Given the description of an element on the screen output the (x, y) to click on. 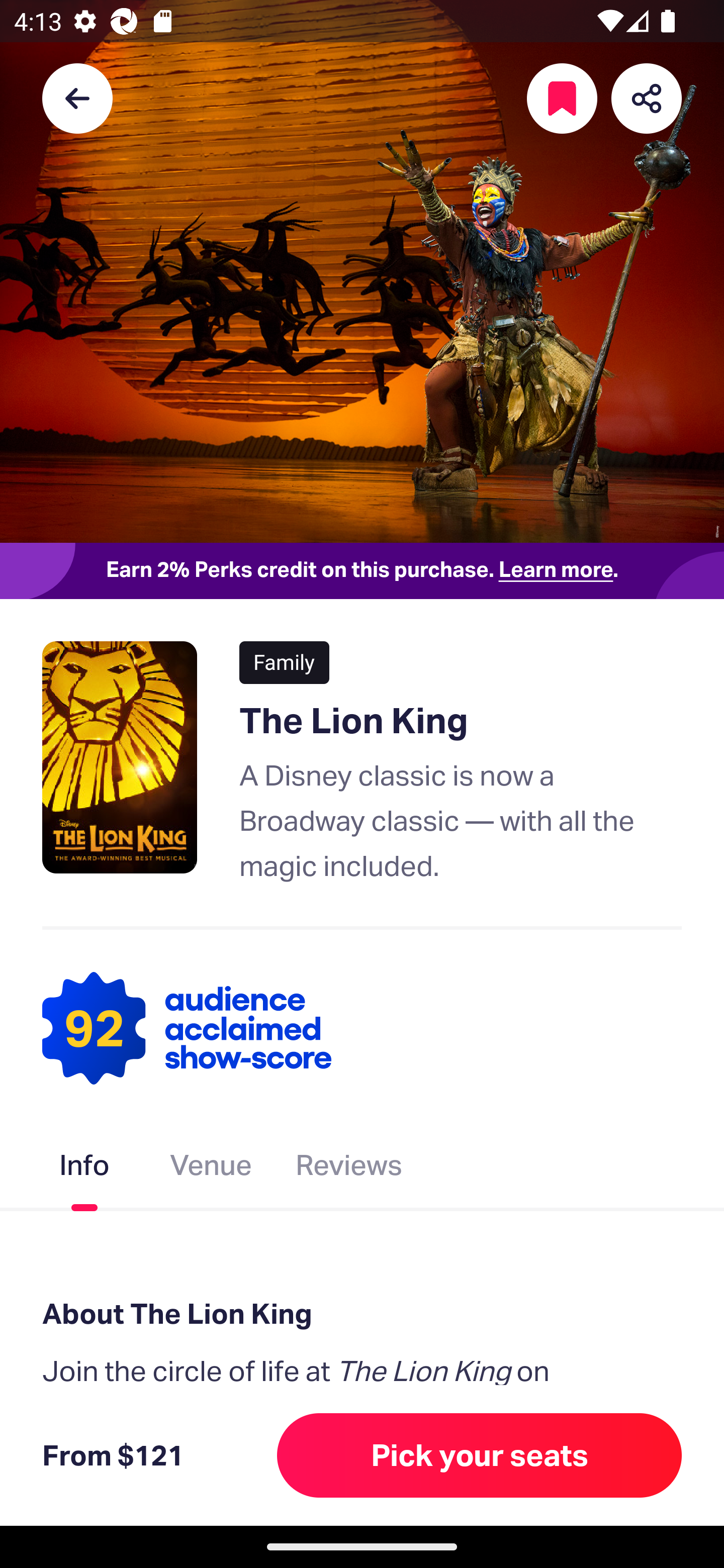
Earn 2% Perks credit on this purchase. Learn more. (362, 570)
Venue (210, 1168)
Reviews (348, 1168)
About The Lion King (361, 1313)
Pick your seats (479, 1454)
